Given the description of an element on the screen output the (x, y) to click on. 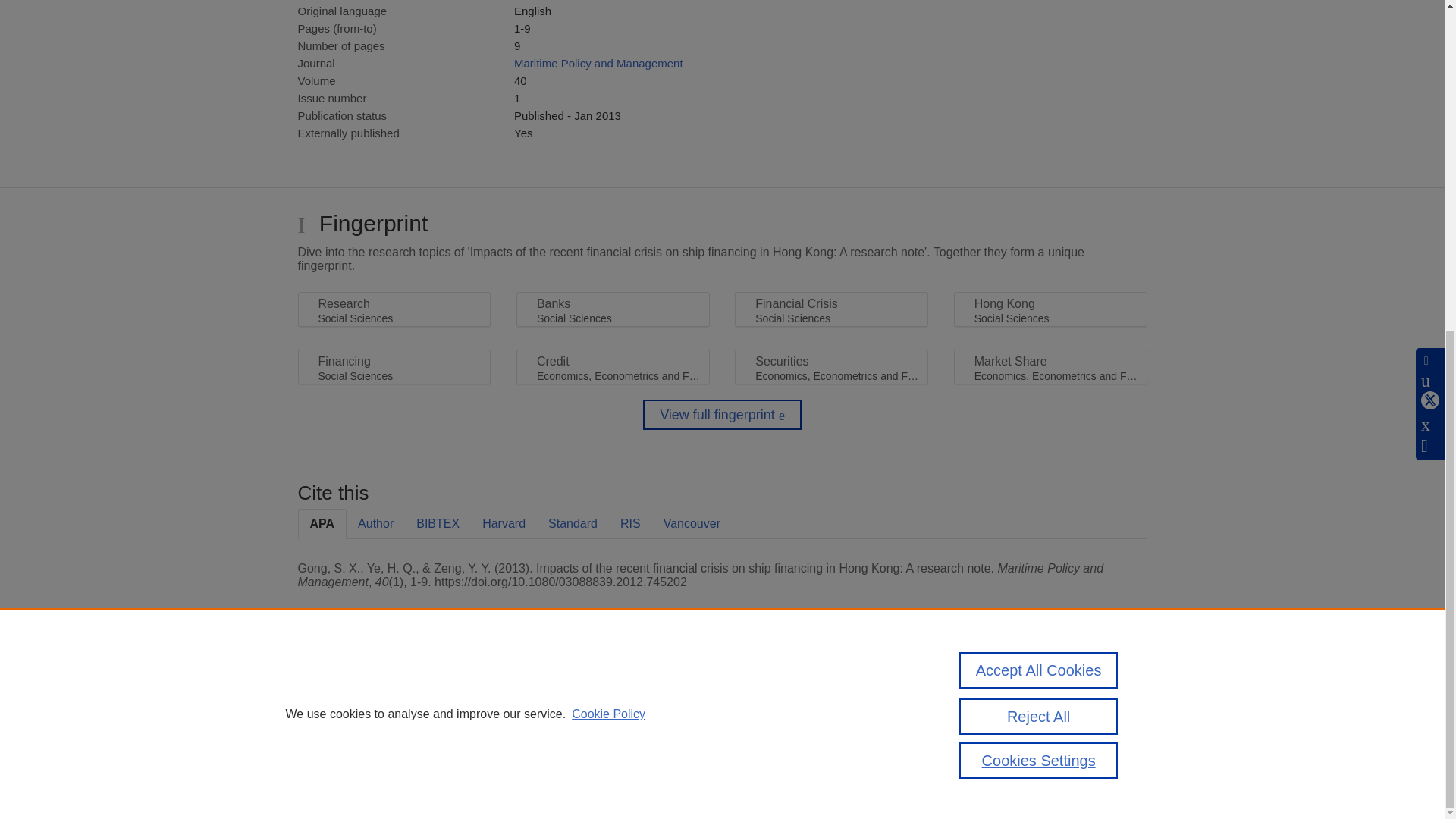
Maritime Policy and Management (597, 62)
Scopus (394, 687)
Log in to Pure (327, 781)
Pure (362, 687)
use of cookies (796, 740)
View full fingerprint (722, 414)
Elsevier B.V. (506, 708)
Cookies Settings (334, 761)
